Given the description of an element on the screen output the (x, y) to click on. 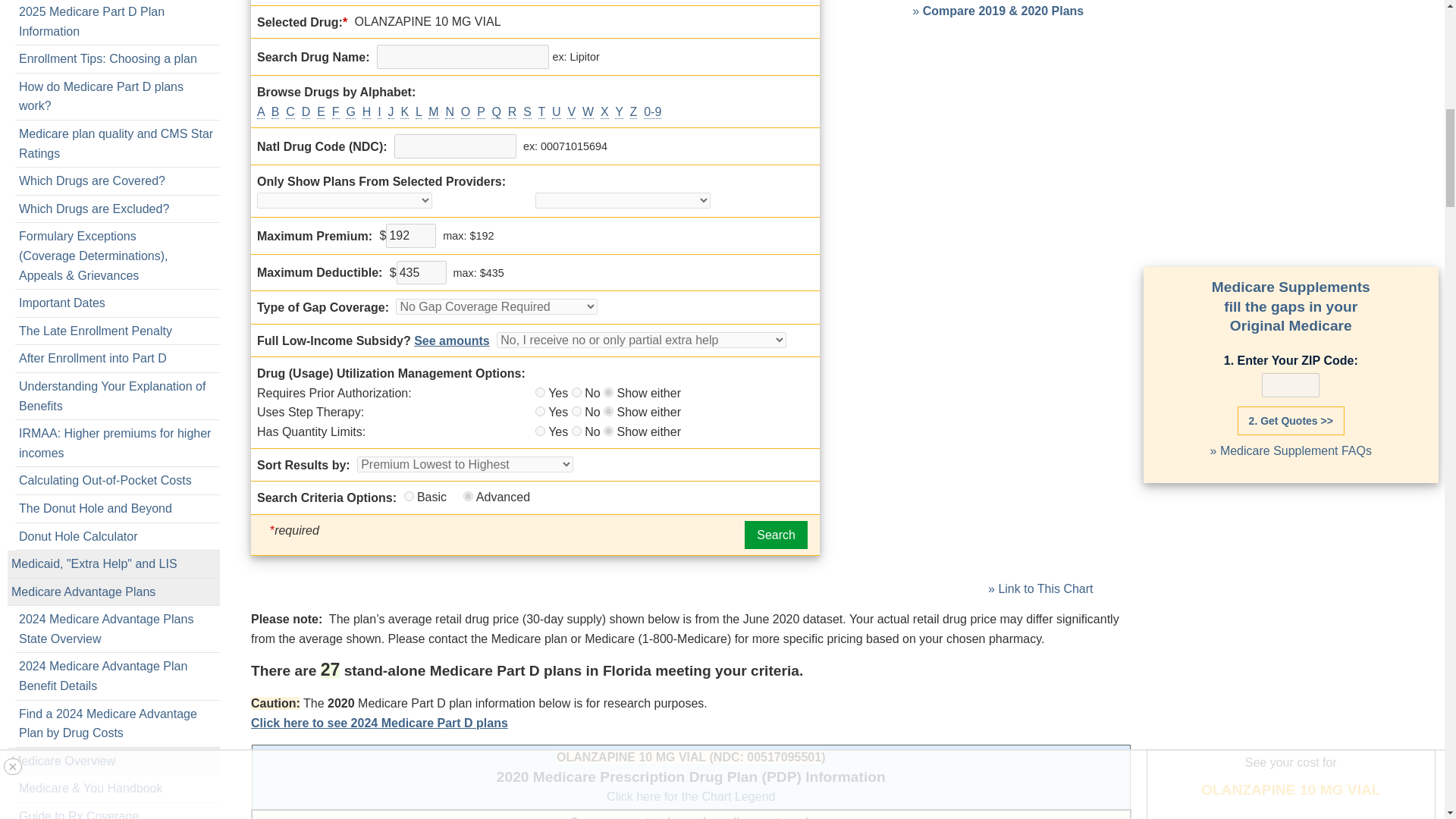
basic (408, 496)
Y (539, 430)
Search (776, 534)
E (608, 430)
E (608, 411)
192 (410, 235)
N (576, 430)
435 (421, 273)
N (576, 411)
N (576, 392)
Y (539, 392)
E (608, 392)
Y (539, 411)
adv (468, 496)
